Given the description of an element on the screen output the (x, y) to click on. 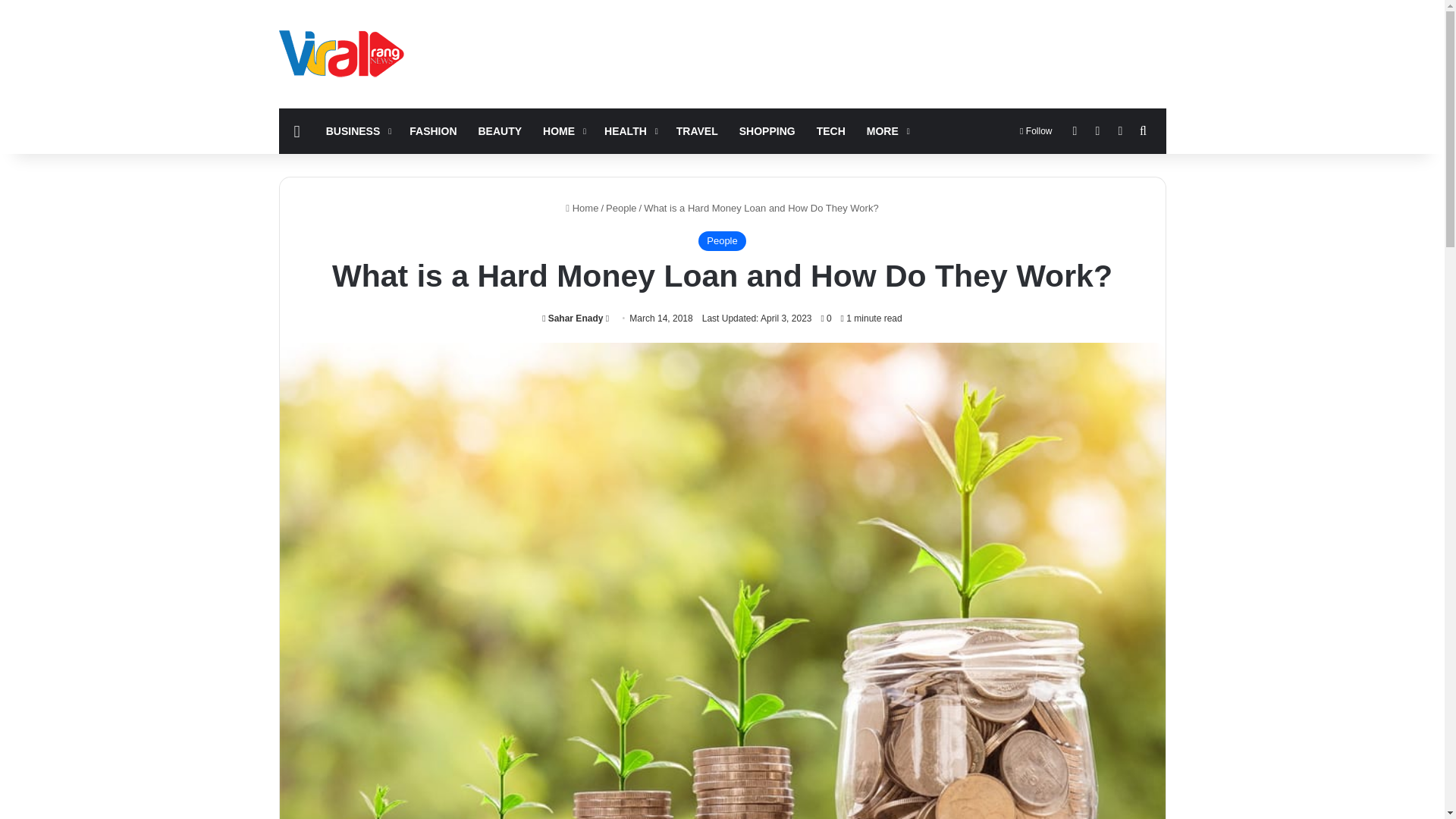
Sahar Enady (571, 317)
FASHION (432, 130)
Viral Rang (344, 53)
TECH (831, 130)
BEAUTY (499, 130)
HOME (563, 130)
SHOPPING (767, 130)
BUSINESS (356, 130)
TRAVEL (697, 130)
Follow (1035, 130)
